Given the description of an element on the screen output the (x, y) to click on. 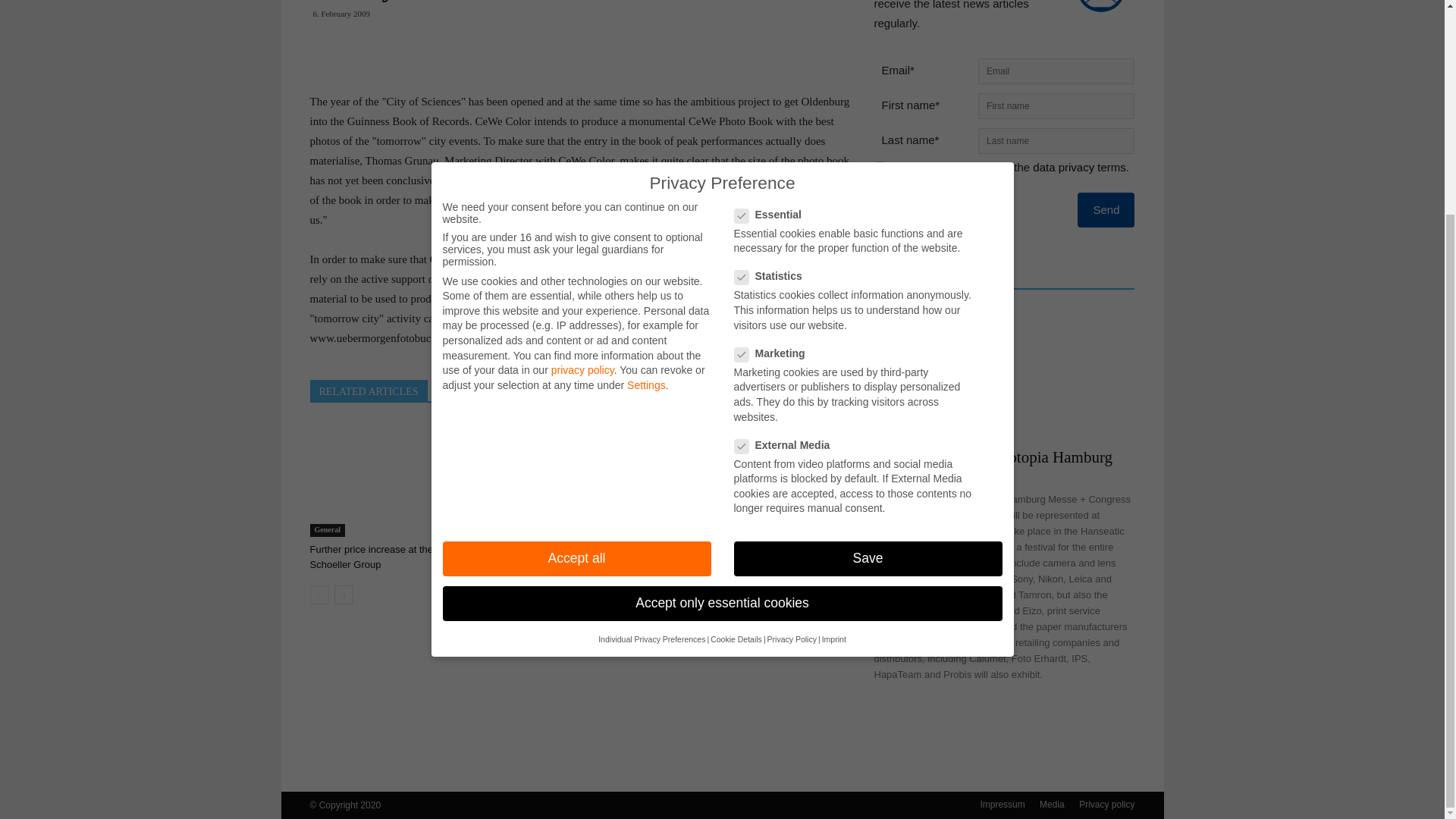
The camera brand Olympus is now history (572, 556)
Successful premiere of Photopia Hamburg (767, 480)
The camera brand Olympus is now history (581, 480)
Further price increase at the Felix Schoeller Group (394, 480)
on (878, 166)
Successful premiere of Photopia Hamburg (753, 556)
Further price increase at the Felix Schoeller Group (382, 556)
